Given the description of an element on the screen output the (x, y) to click on. 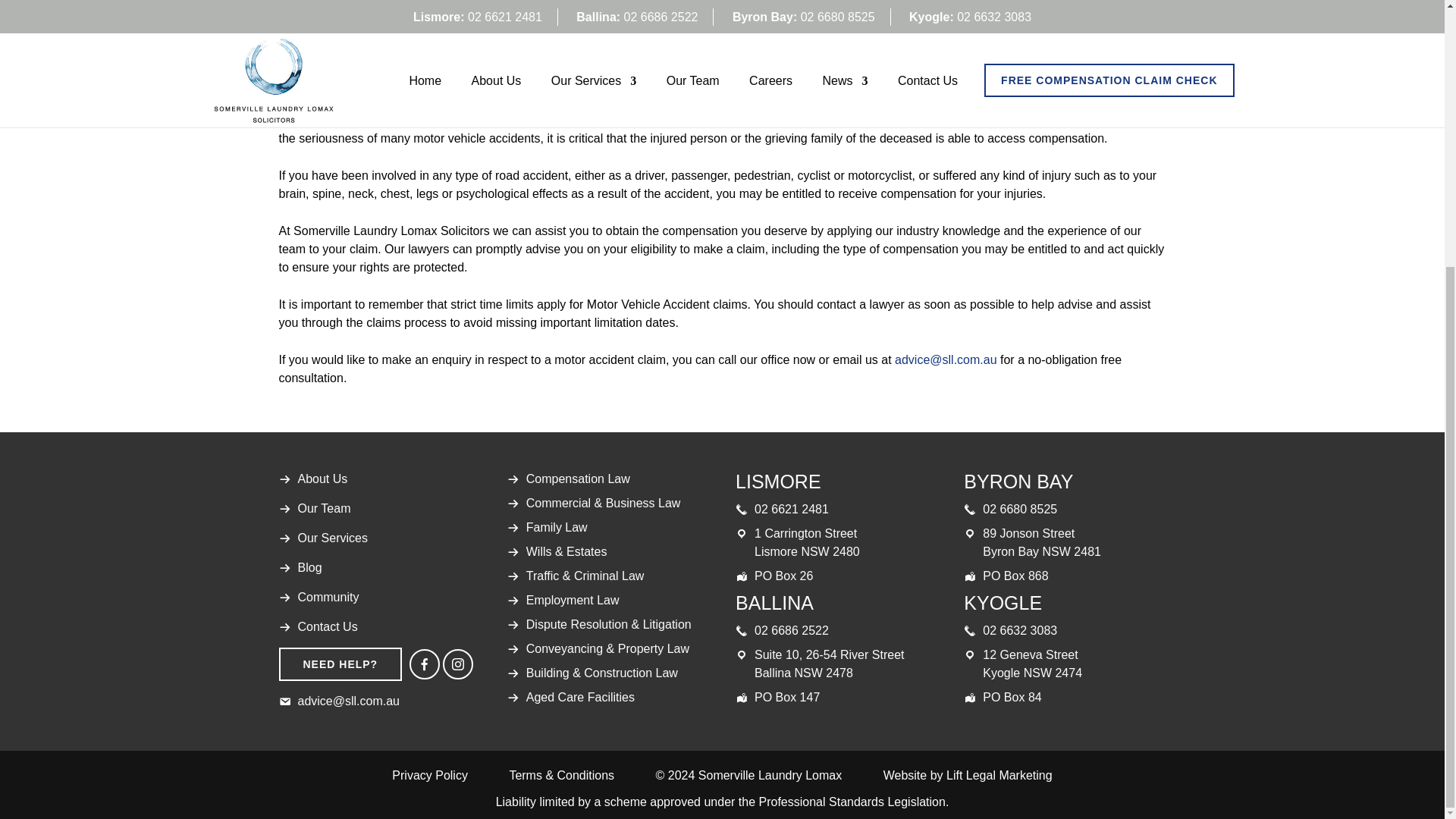
Our Team (323, 508)
About Us (322, 478)
Our Services (331, 537)
Blog (309, 567)
Community (327, 596)
